Given the description of an element on the screen output the (x, y) to click on. 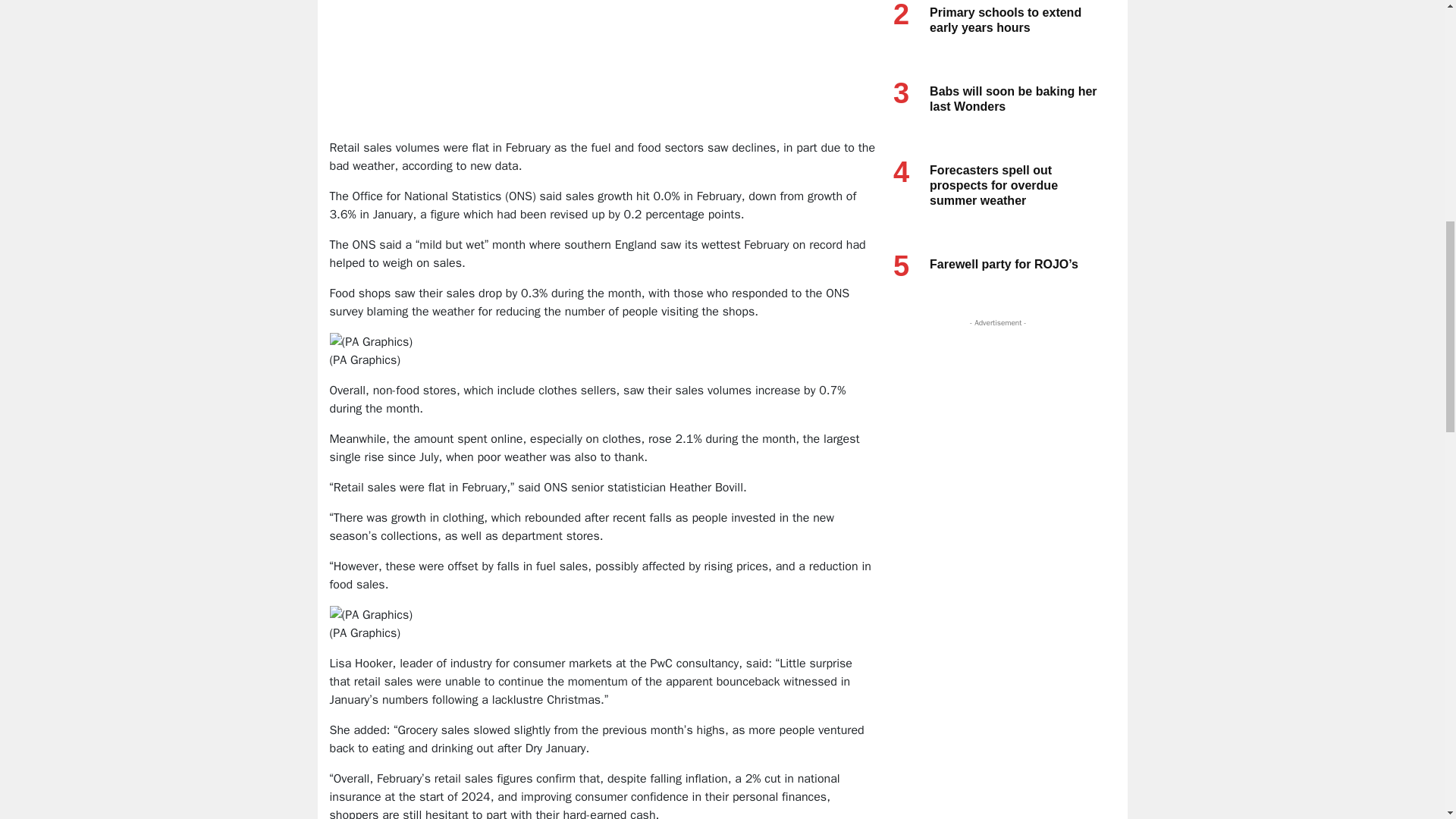
3rd party ad content (994, 425)
3rd party ad content (604, 89)
